Given the description of an element on the screen output the (x, y) to click on. 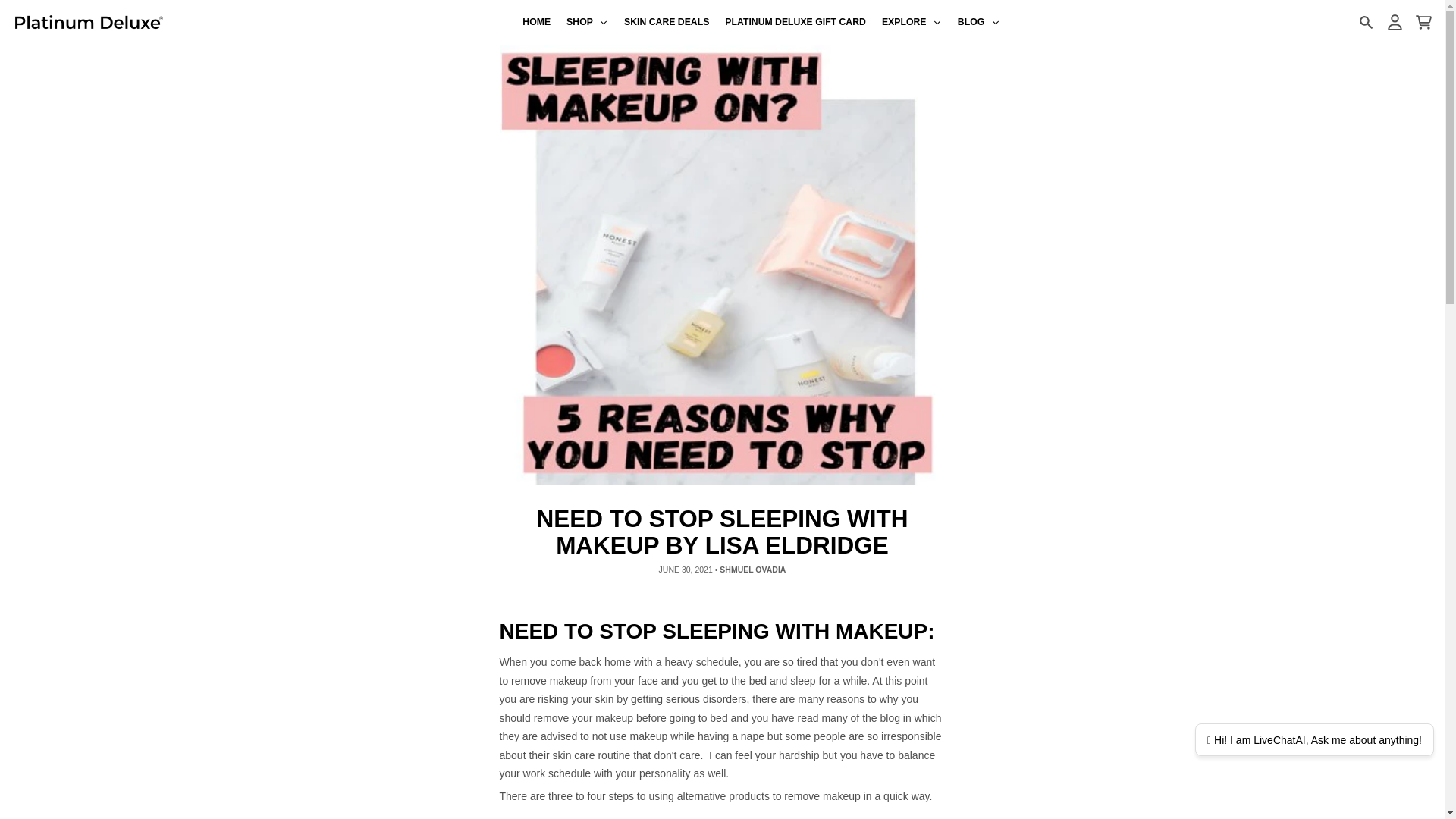
Search (1364, 22)
Skip to content (18, 7)
HOME (537, 22)
Cart (1423, 22)
SKIN CARE DEALS (666, 22)
PLATINUM DELUXE GIFT CARD (796, 22)
Account (1394, 22)
